Given the description of an element on the screen output the (x, y) to click on. 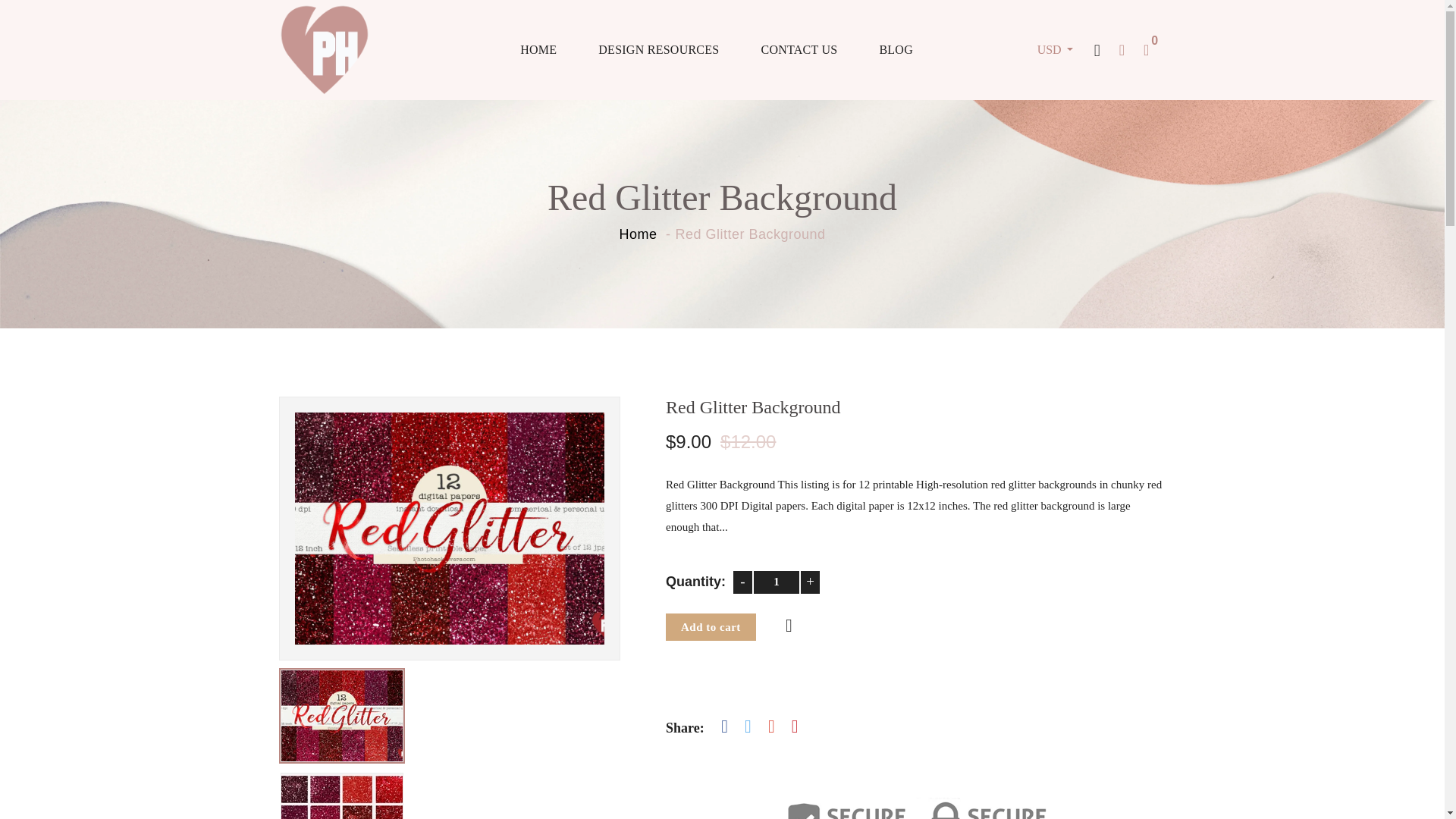
CONTACT US (798, 49)
Wishlist (787, 627)
1 (776, 581)
DESIGN RESOURCES (658, 49)
Home (637, 233)
Back to the home page (637, 233)
Add to cart (710, 627)
